Given the description of an element on the screen output the (x, y) to click on. 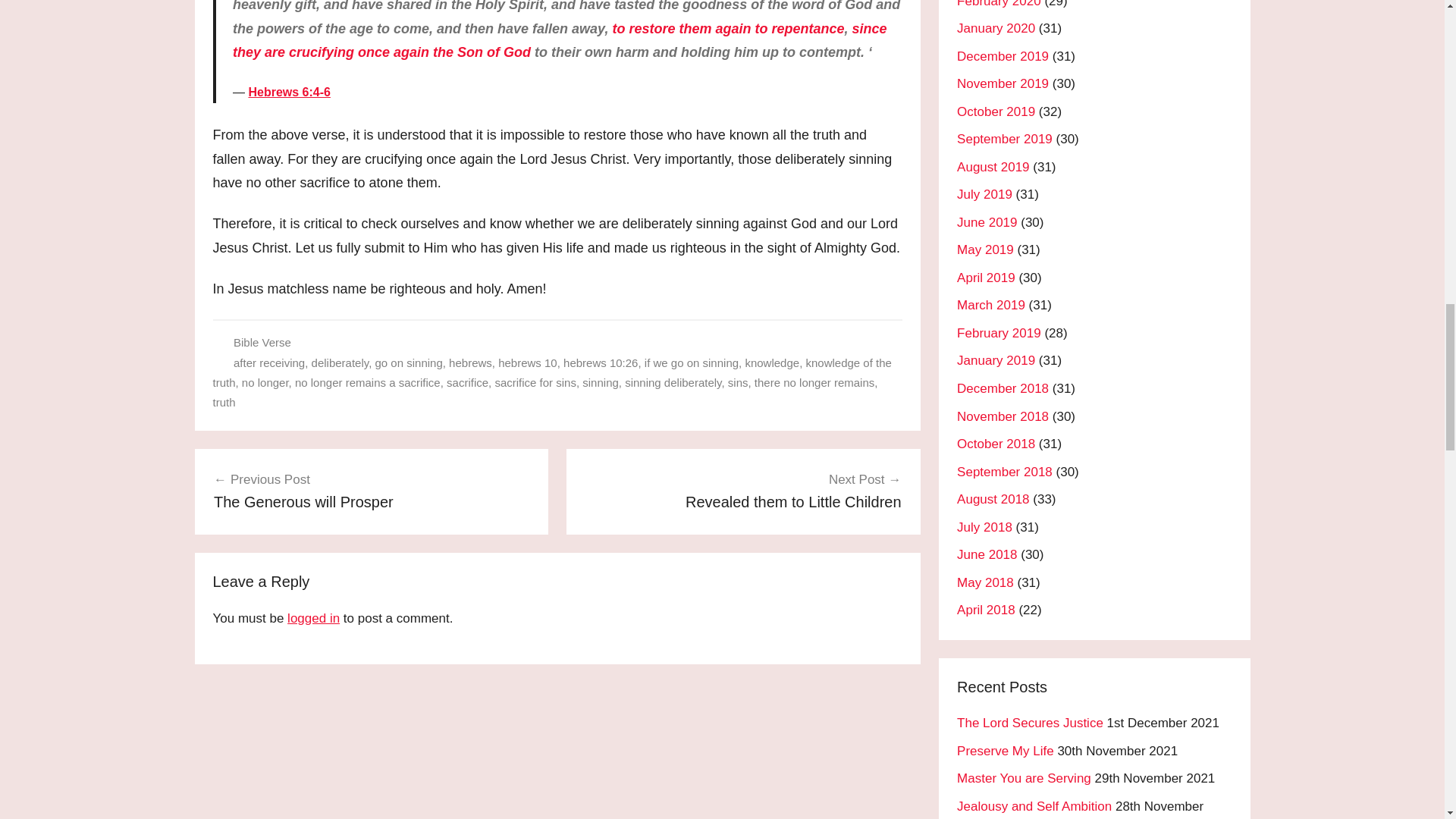
there no longer remains (814, 382)
deliberately (743, 490)
hebrews (340, 362)
sinning (470, 362)
hebrews 10 (600, 382)
sins (527, 362)
sacrifice for sins (738, 382)
hebrews 10:26 (535, 382)
knowledge of the truth (600, 362)
if we go on sinning (551, 372)
sinning deliberately (691, 362)
no longer remains a sacrifice (371, 490)
go on sinning (672, 382)
